Given the description of an element on the screen output the (x, y) to click on. 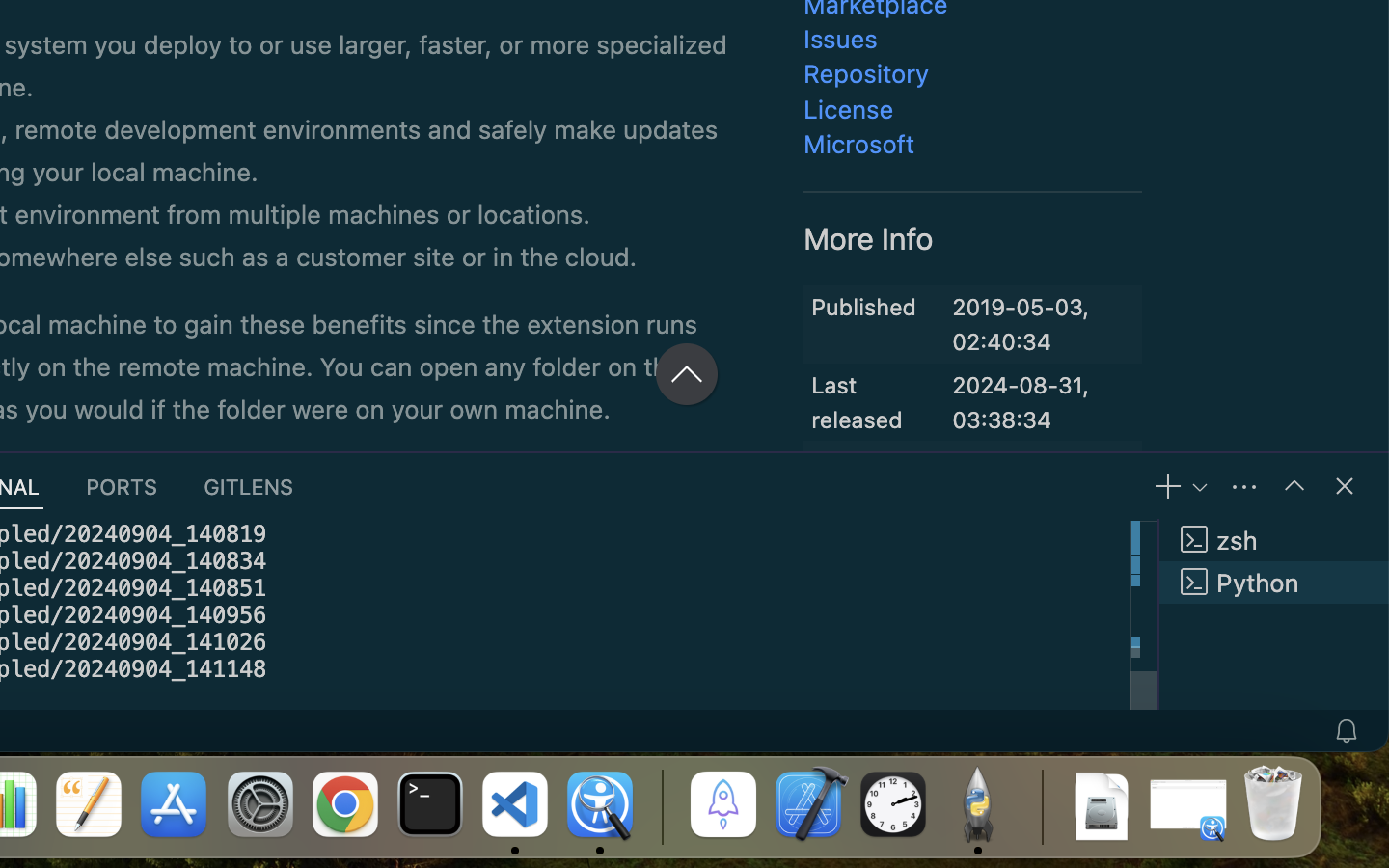
Python  Element type: AXGroup (1274, 582)
License Element type: AXStaticText (849, 108)
Last released Element type: AXStaticText (857, 402)
0.4285714328289032 Element type: AXDockItem (660, 805)
Microsoft Element type: AXStaticText (860, 144)
